Given the description of an element on the screen output the (x, y) to click on. 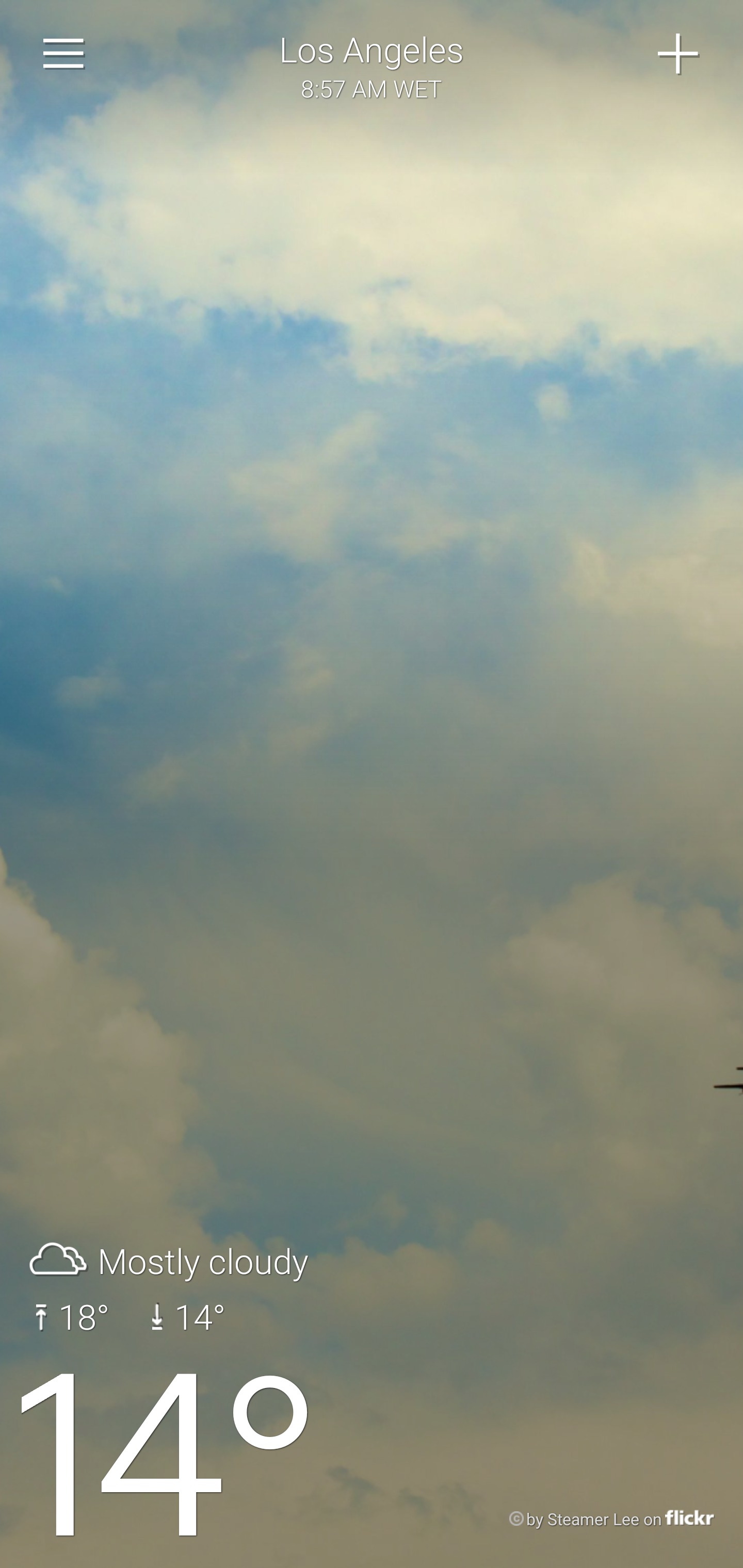
Sidebar (64, 54)
Add City (678, 53)
